Given the description of an element on the screen output the (x, y) to click on. 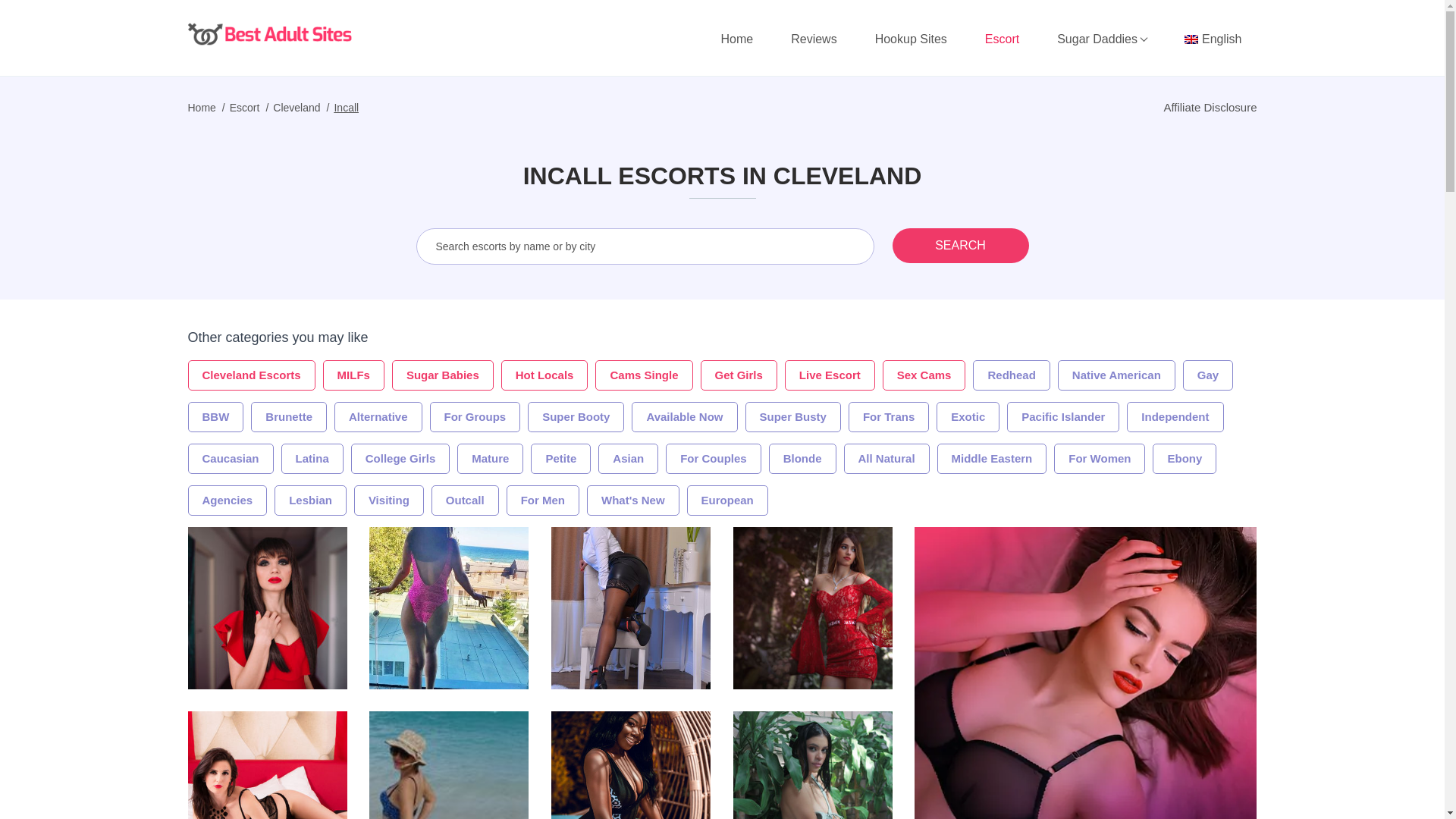
Hookup Sites (911, 39)
 MILFs (353, 375)
Caucasian (230, 458)
Independent (1174, 417)
Escort (245, 107)
Reviews (813, 39)
Sugar Babies (442, 375)
Cleveland (296, 107)
MILFs (353, 375)
Escort (1001, 39)
